Given the description of an element on the screen output the (x, y) to click on. 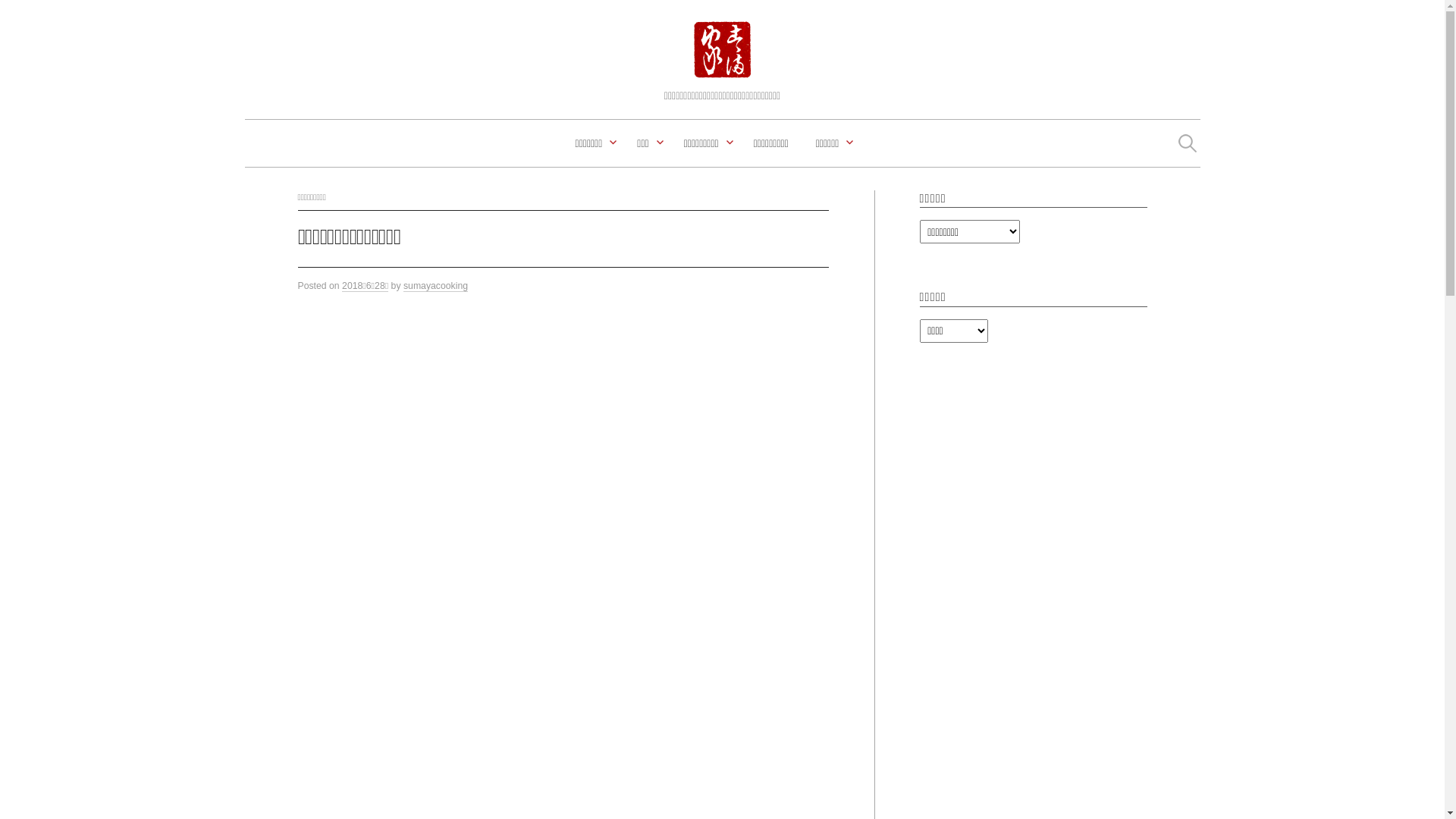
sumayacooking Element type: text (435, 285)
